Given the description of an element on the screen output the (x, y) to click on. 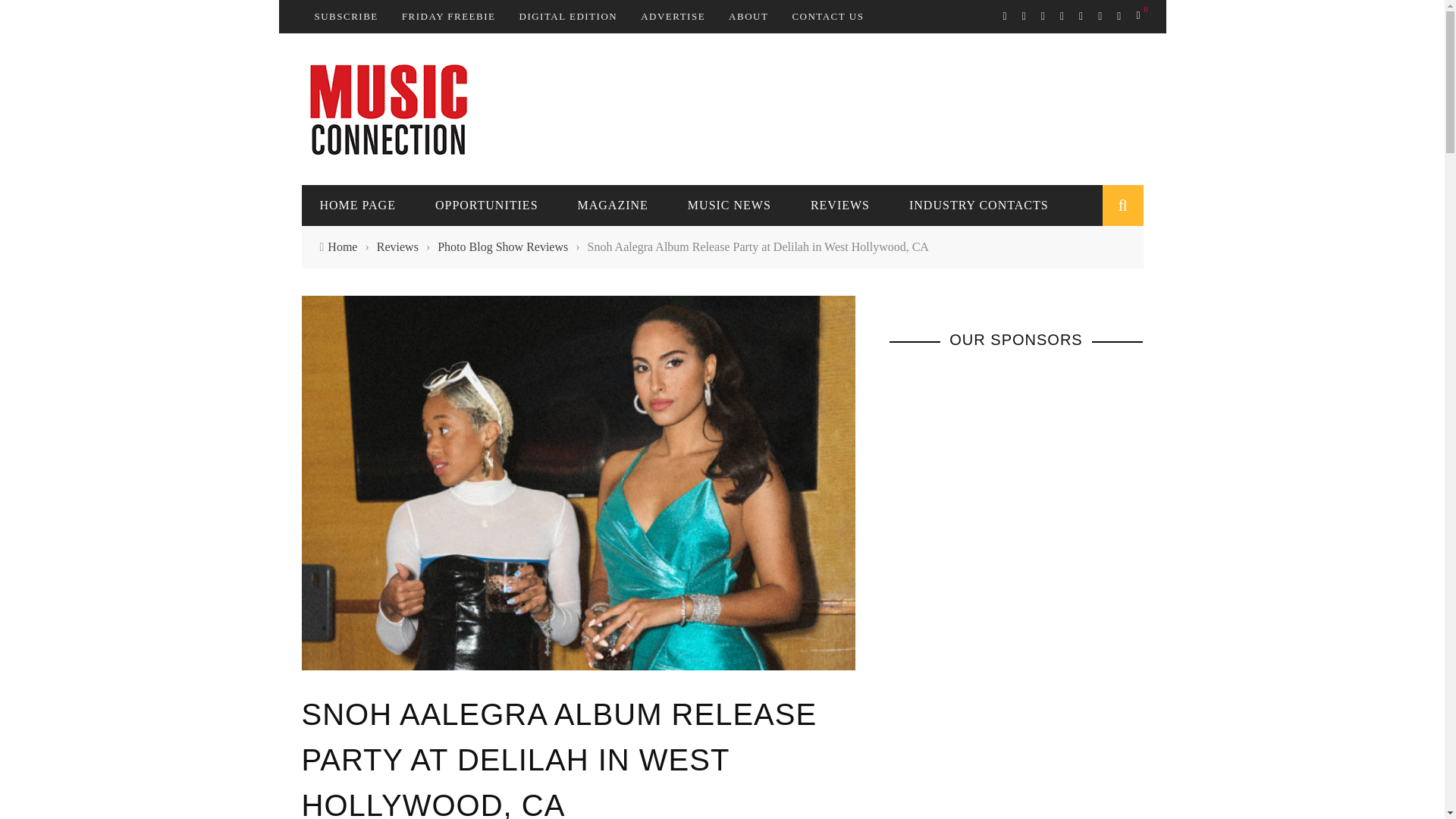
3rd party ad content (866, 108)
